Given the description of an element on the screen output the (x, y) to click on. 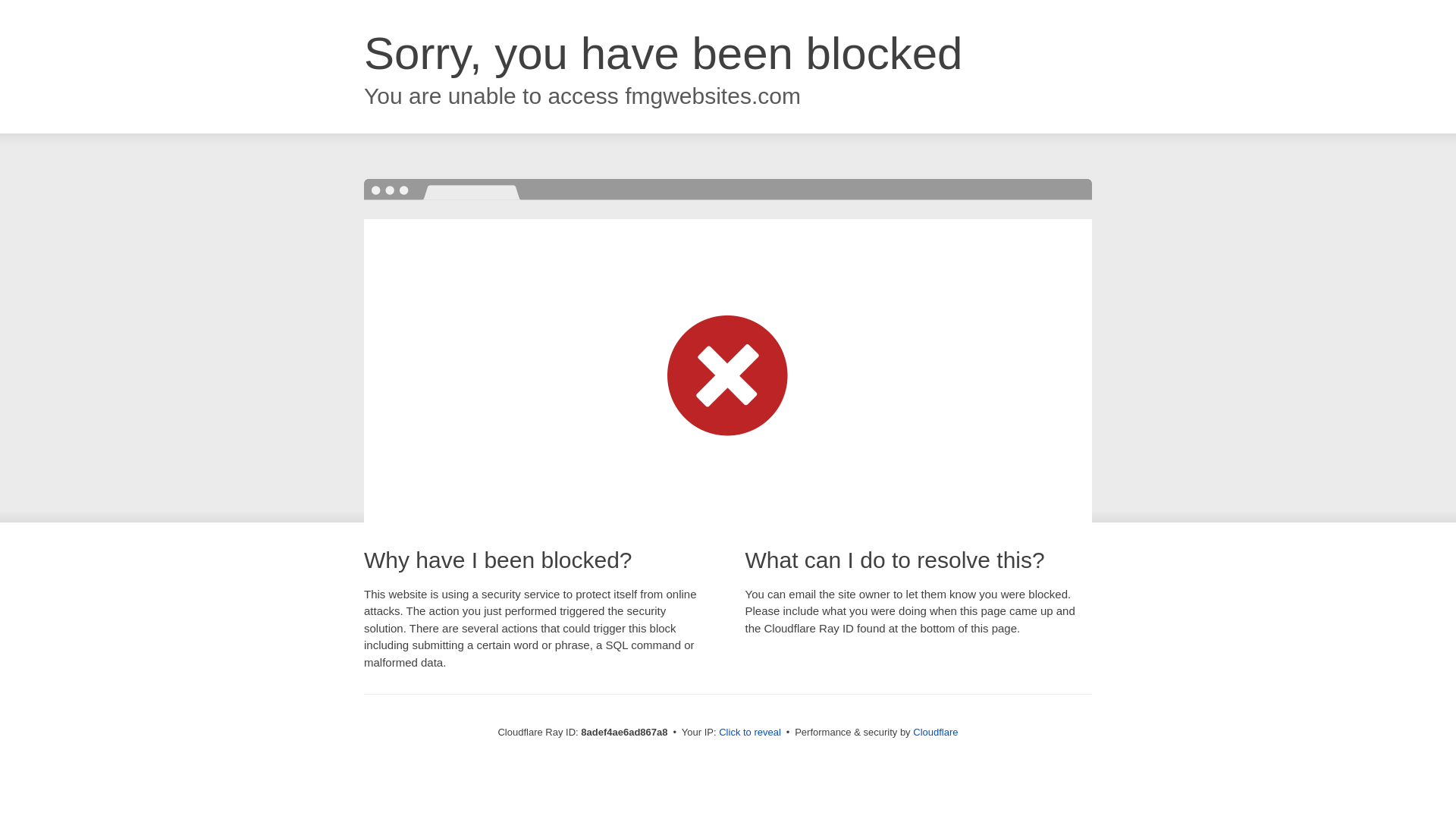
Cloudflare (935, 731)
Click to reveal (749, 732)
